Given the description of an element on the screen output the (x, y) to click on. 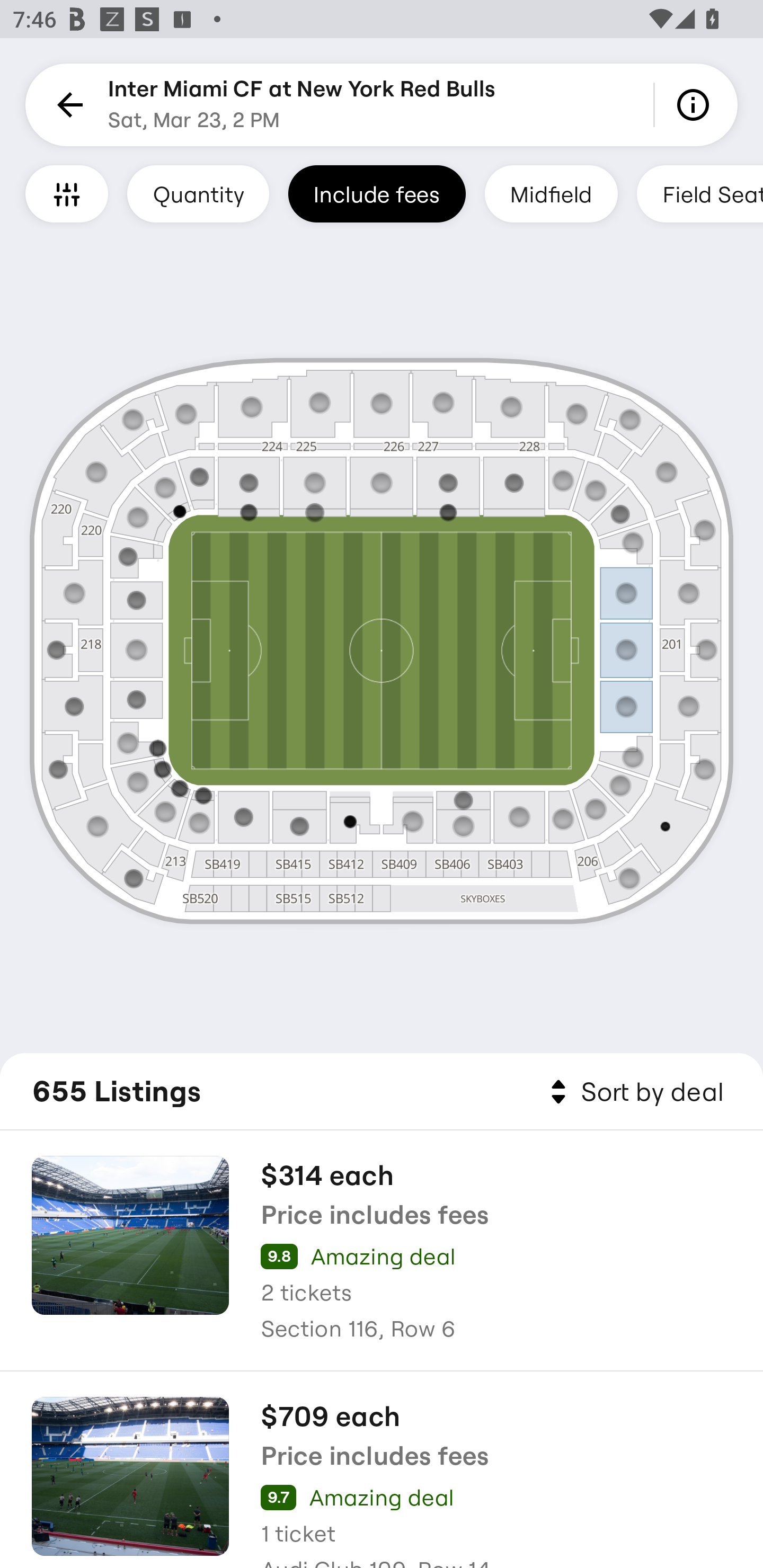
Back (66, 104)
Info (695, 104)
Filters and Accessible Seating (66, 193)
Quantity (198, 193)
Include fees (376, 193)
Midfield (551, 193)
Field Seats (700, 193)
Sort by deal (633, 1091)
